Given the description of an element on the screen output the (x, y) to click on. 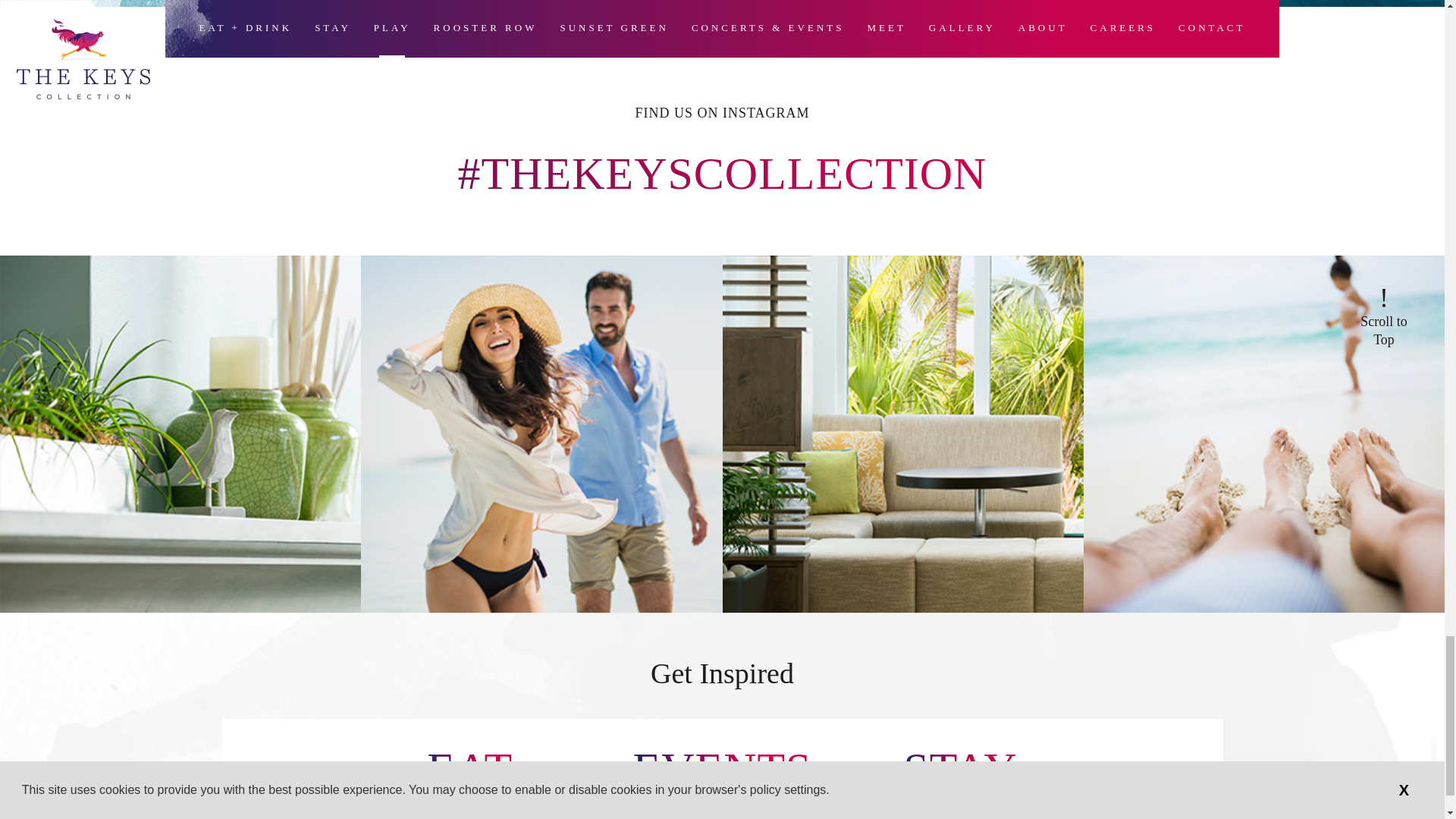
Scroll to Top (1383, 317)
